Given the description of an element on the screen output the (x, y) to click on. 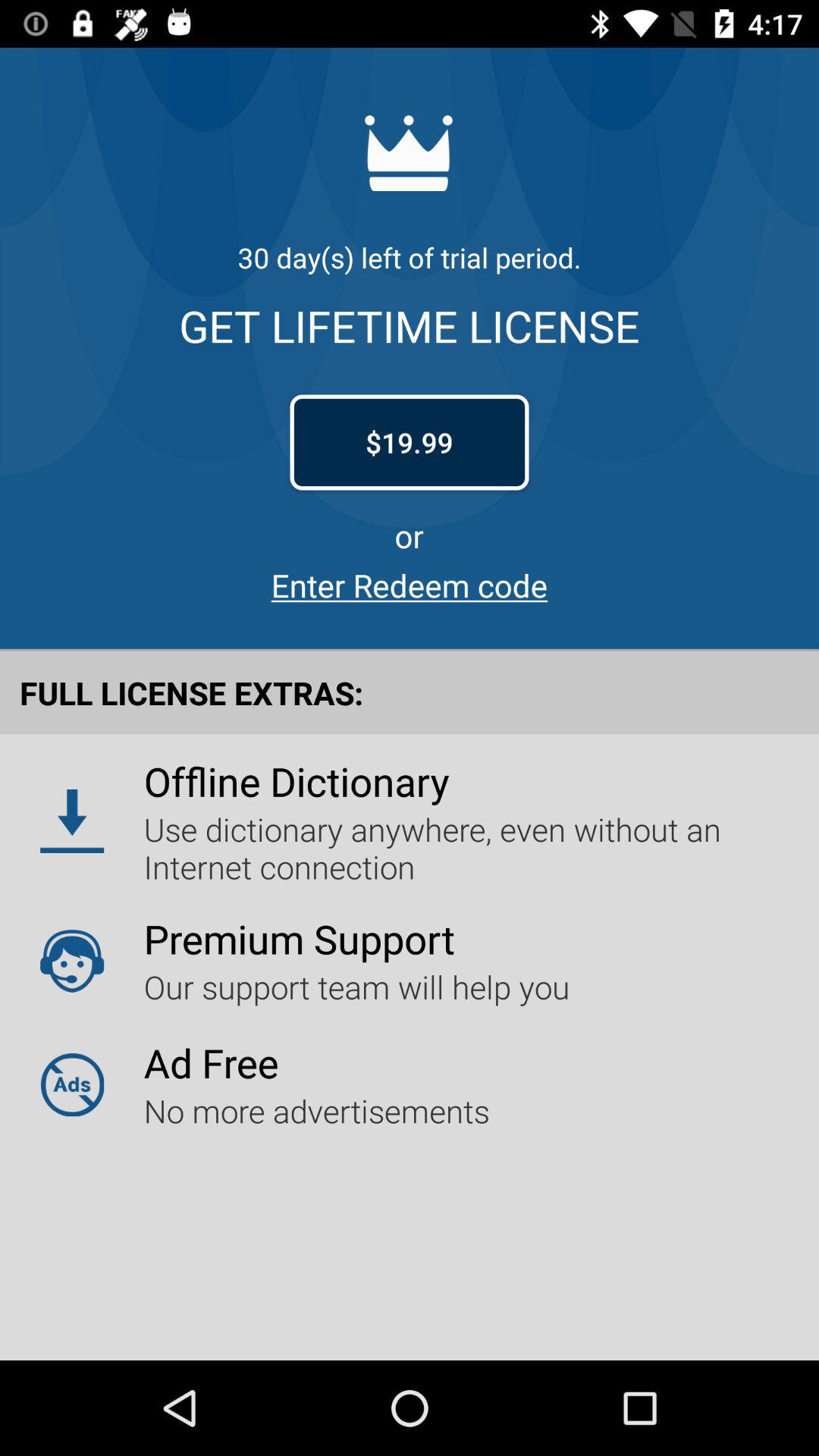
click on the icon beside offline dictionary (72, 821)
1999 (409, 442)
click on the link below or (409, 585)
click the enter redeem code (409, 585)
click on the button above or (409, 442)
click the image left to premium support (72, 960)
